Given the description of an element on the screen output the (x, y) to click on. 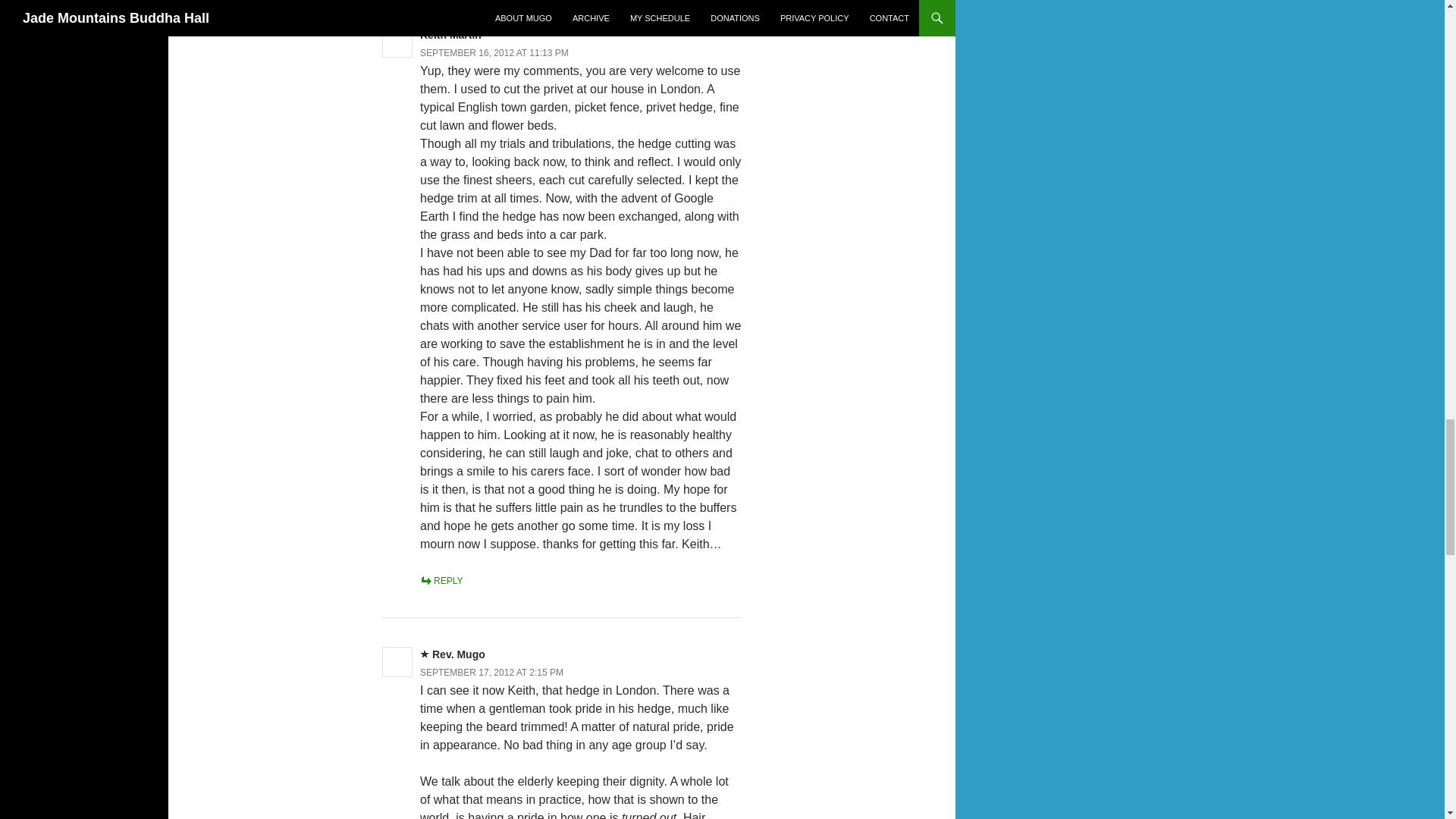
SEPTEMBER 16, 2012 AT 11:13 PM (494, 52)
